Given the description of an element on the screen output the (x, y) to click on. 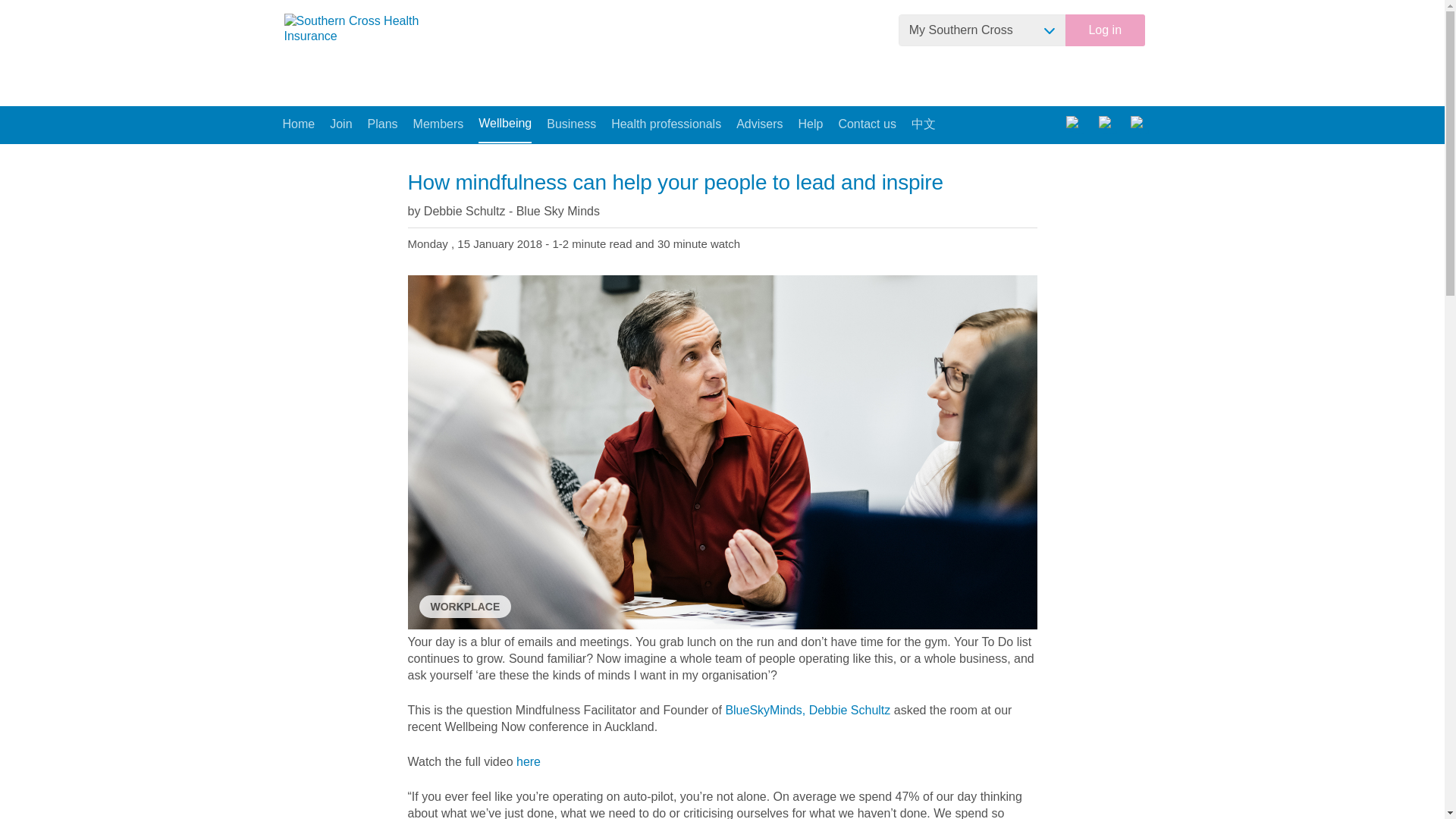
Help (809, 124)
Health professionals (665, 124)
Advisers (759, 124)
Plans (382, 124)
Help (809, 124)
Contact us (866, 124)
Contact us (866, 124)
Business (571, 124)
Health professionals (665, 124)
Plans (382, 124)
